Given the description of an element on the screen output the (x, y) to click on. 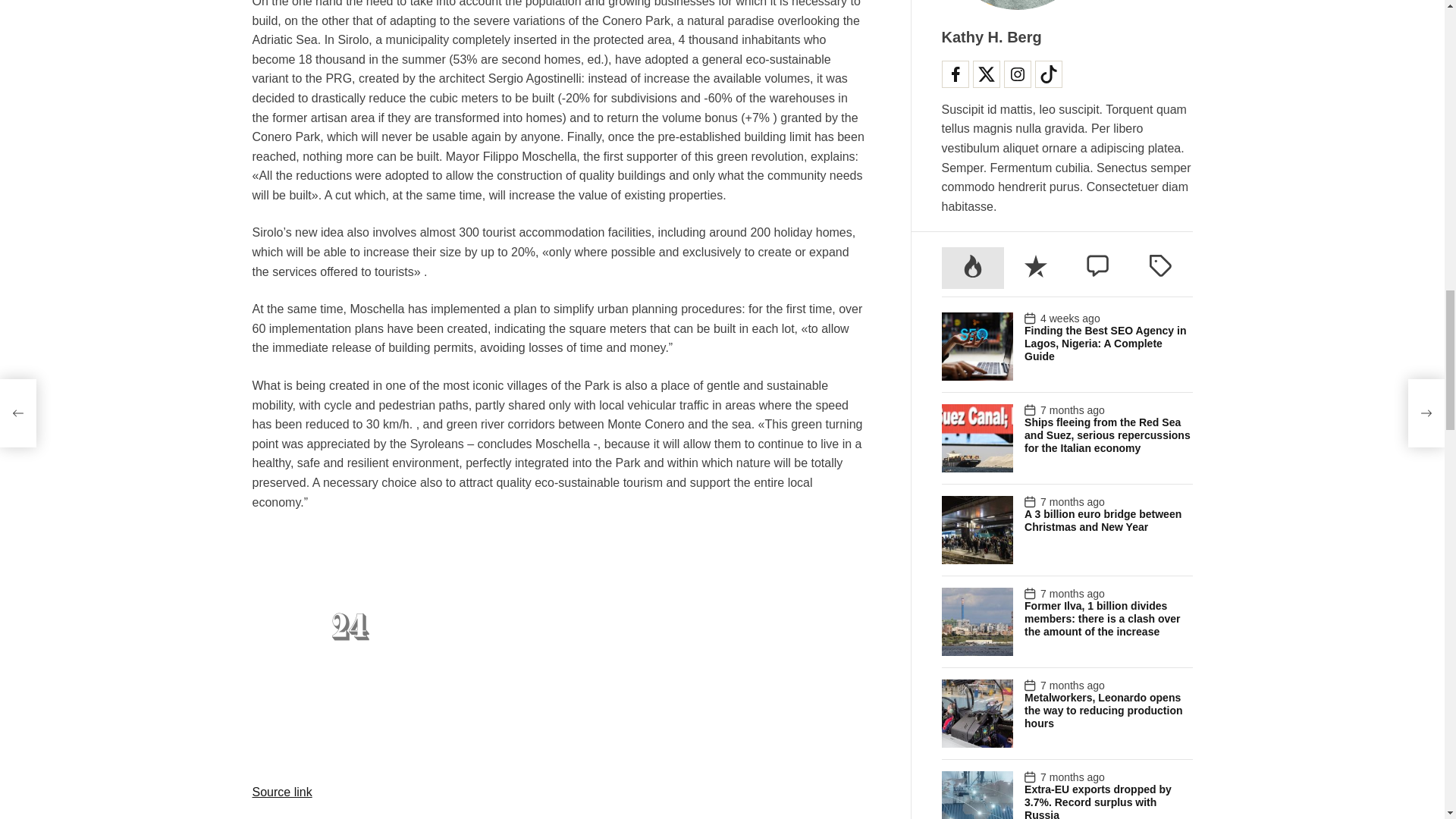
admin (325, 558)
admin (609, 569)
